Given the description of an element on the screen output the (x, y) to click on. 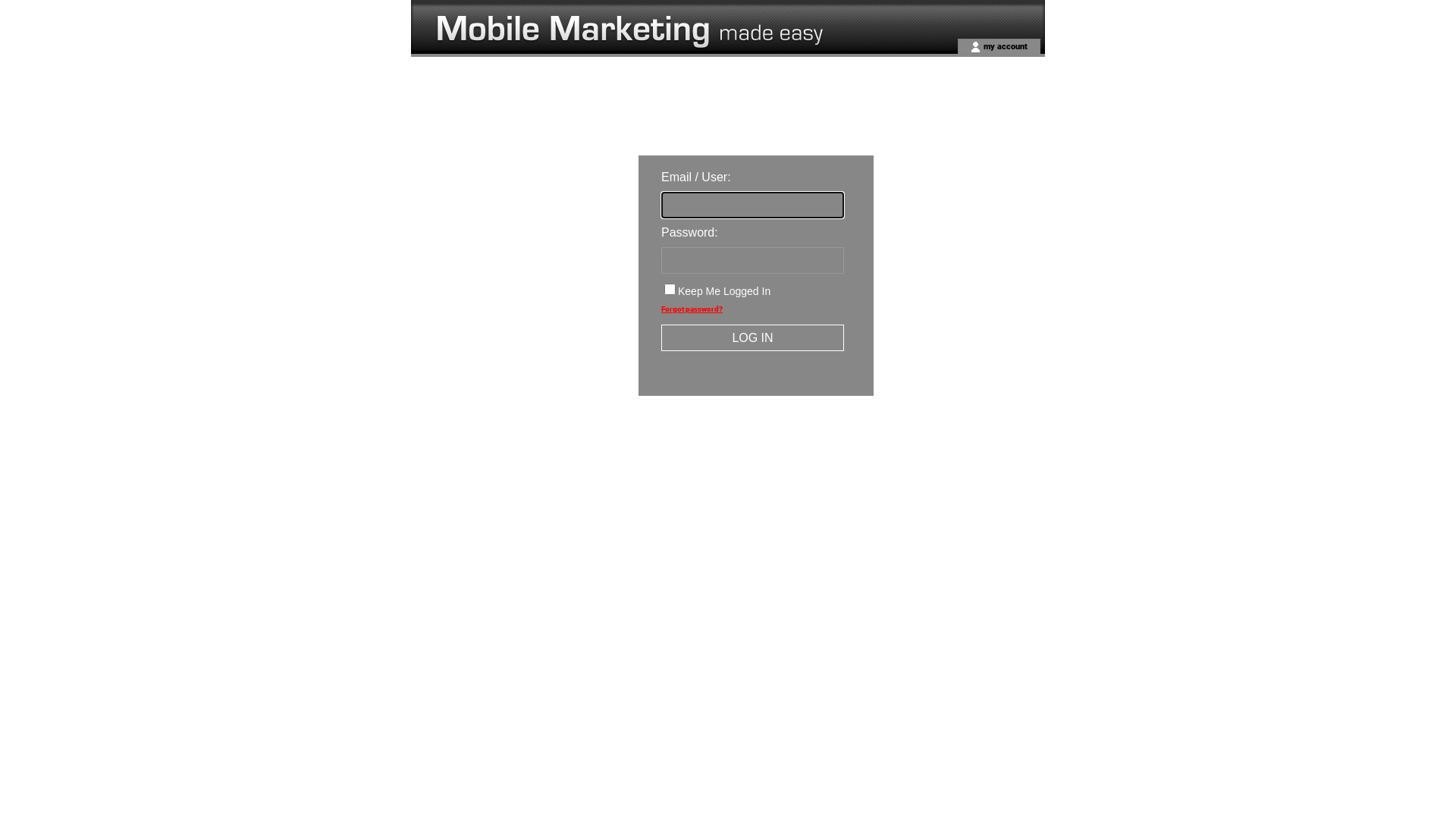
LOG IN Element type: text (752, 337)
Forgot password? Element type: text (691, 308)
my account Element type: text (1004, 45)
